Given the description of an element on the screen output the (x, y) to click on. 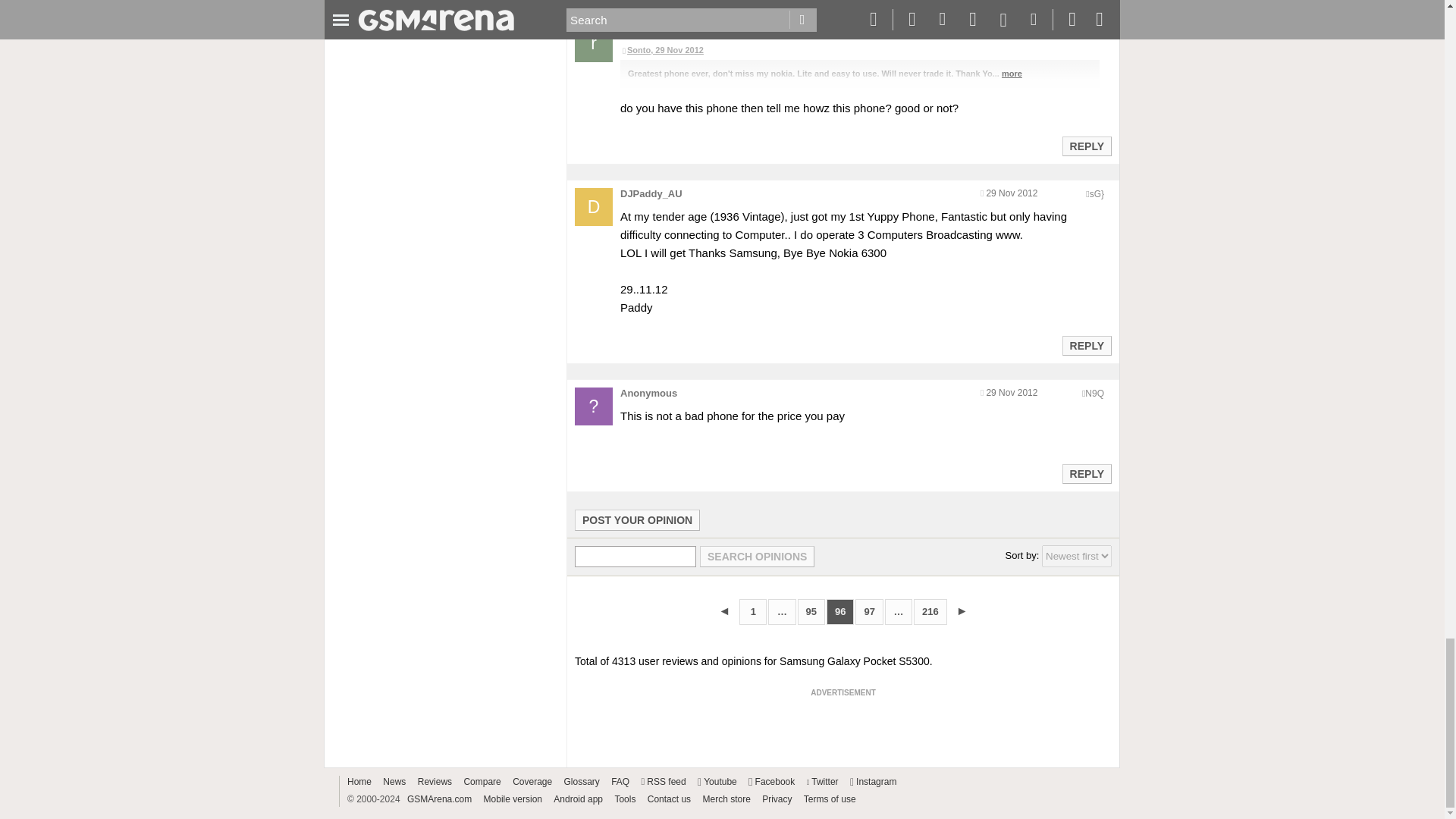
Search opinions (756, 556)
